Given the description of an element on the screen output the (x, y) to click on. 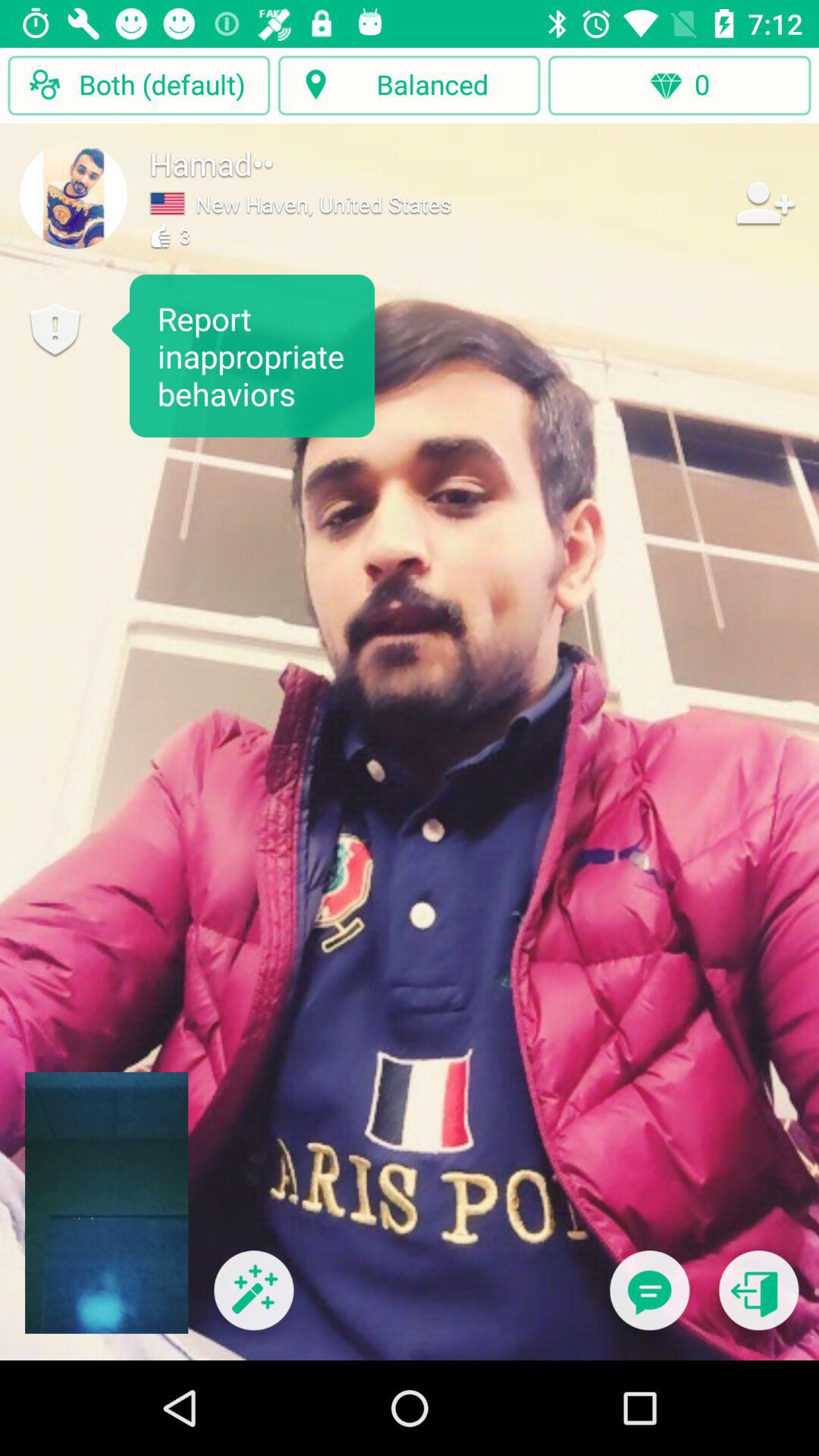
add effects (253, 1300)
